Given the description of an element on the screen output the (x, y) to click on. 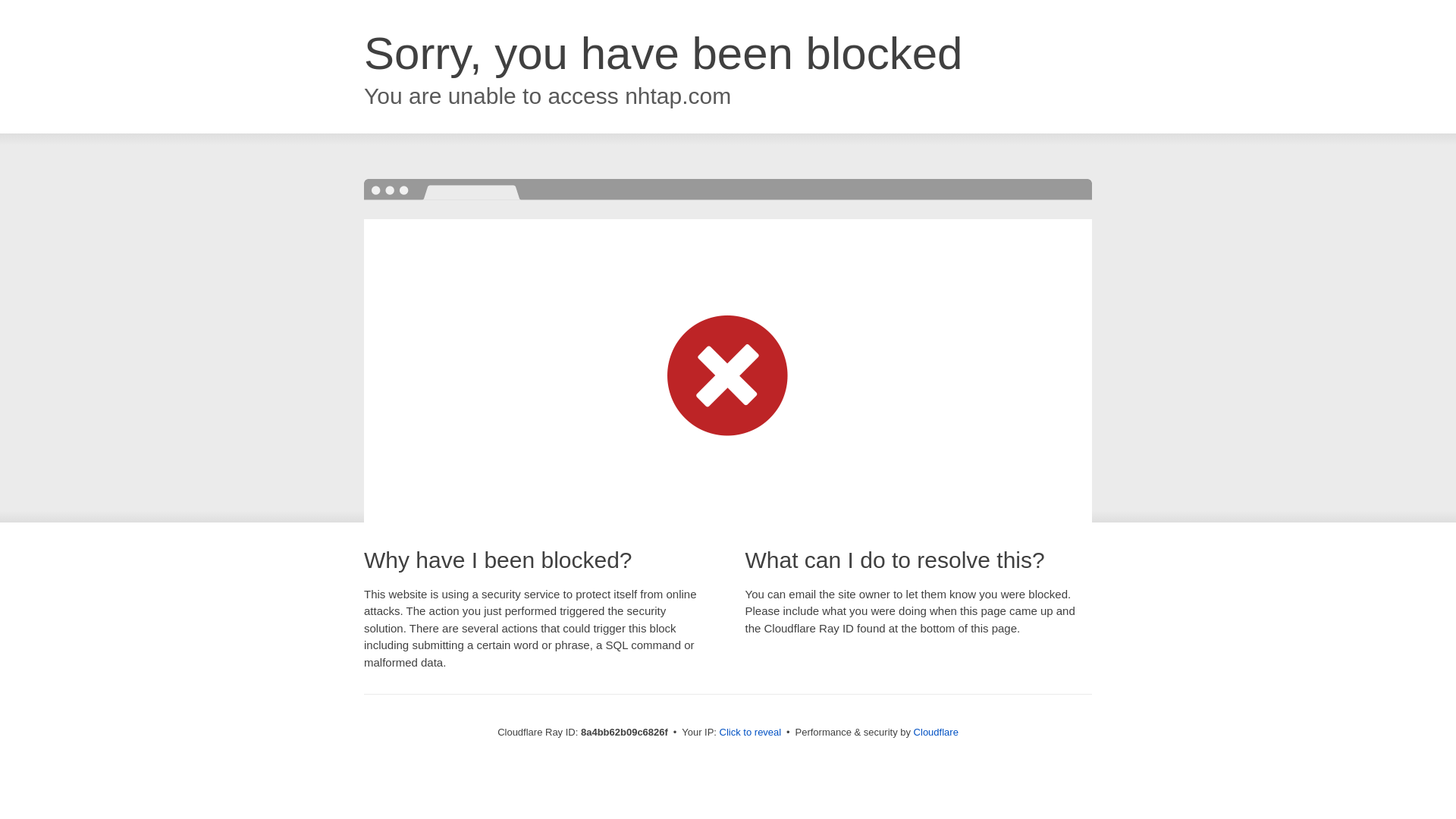
Cloudflare (936, 731)
Click to reveal (750, 732)
